Given the description of an element on the screen output the (x, y) to click on. 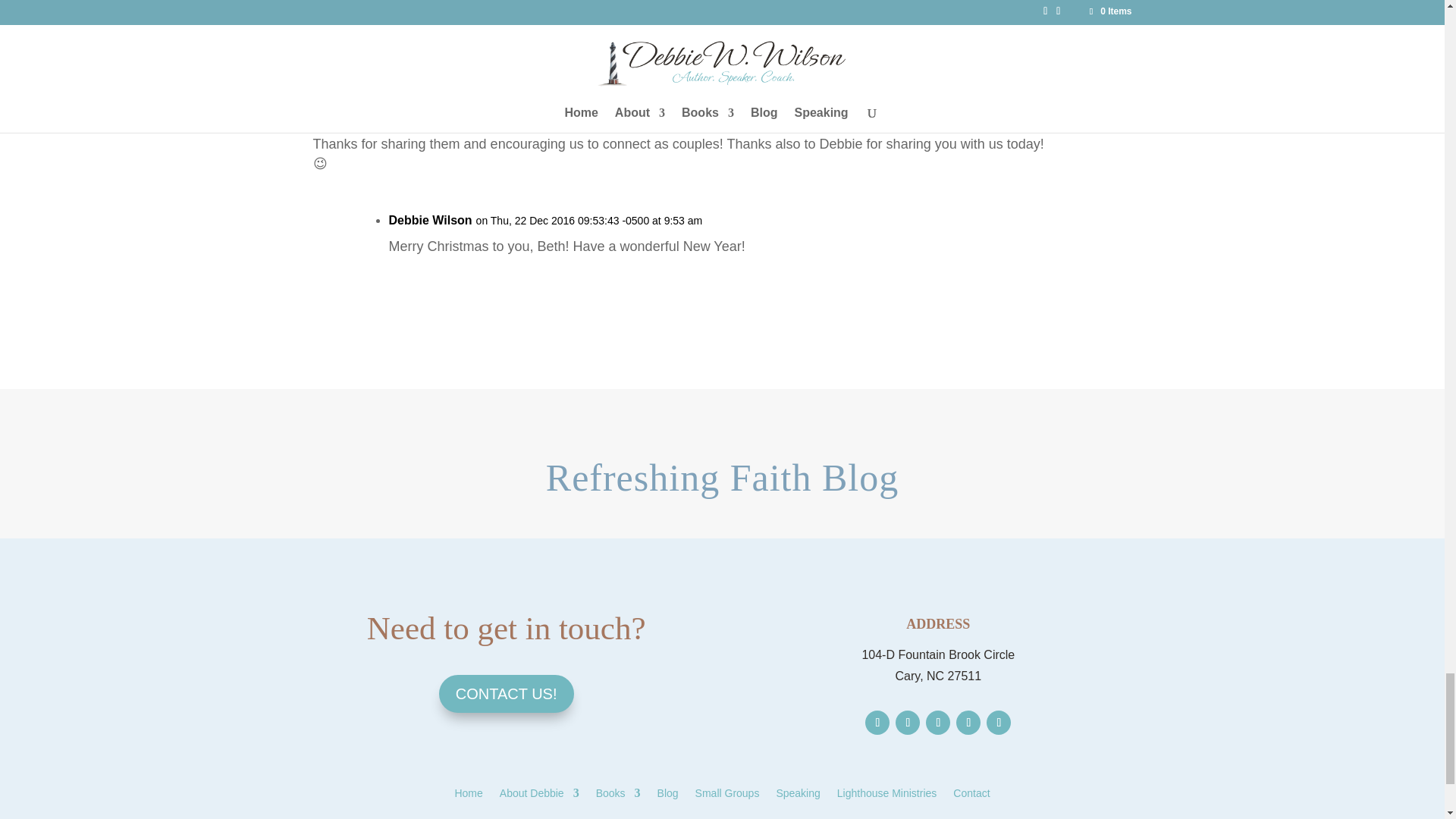
Follow on Facebook (876, 722)
Follow on RSS (998, 722)
Follow on Instagram (938, 722)
Follow on Pinterest (967, 722)
Follow on X (907, 722)
